Given the description of an element on the screen output the (x, y) to click on. 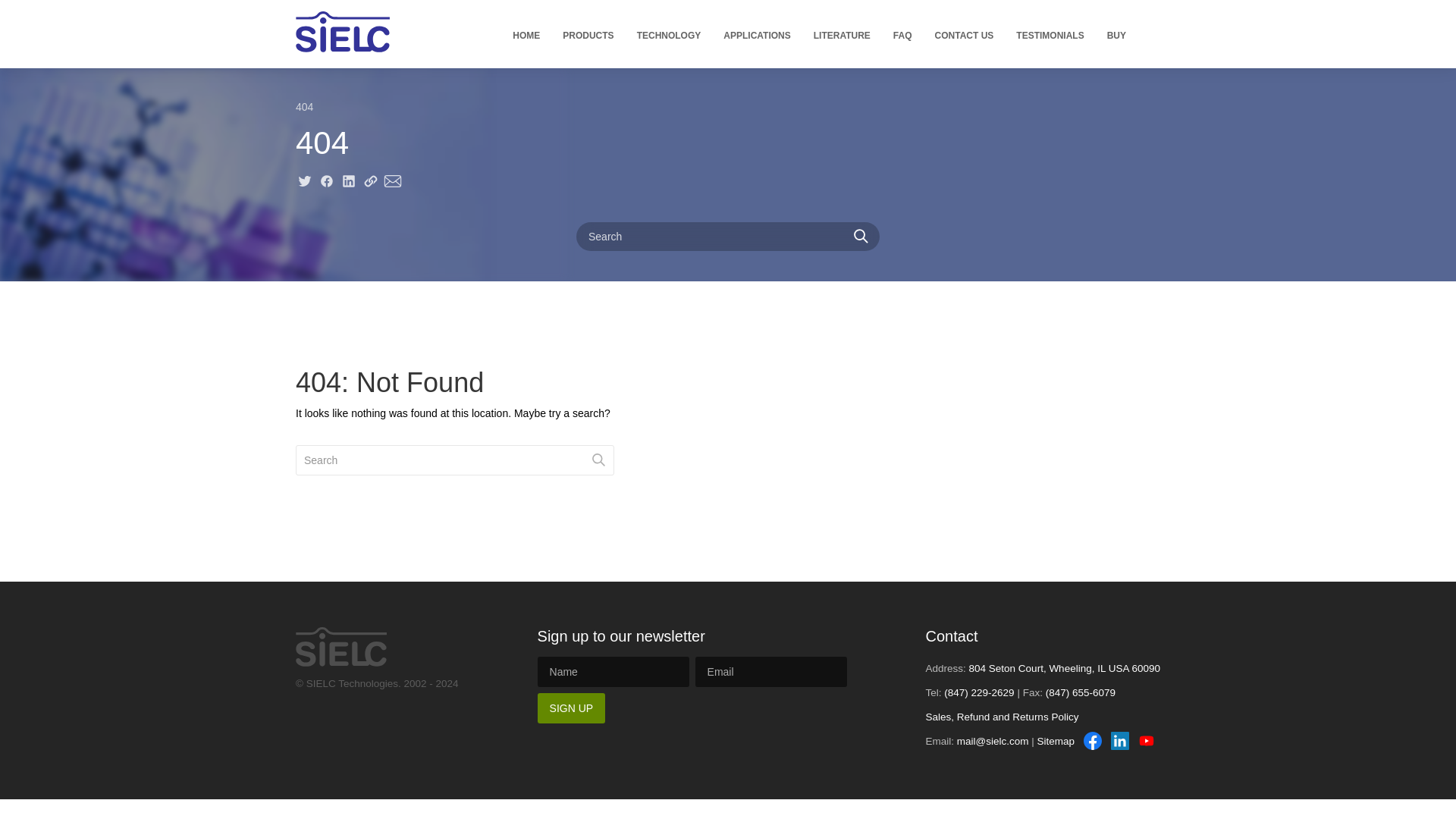
TESTIMONIALS (1049, 34)
BUY (1116, 34)
LITERATURE (842, 34)
Sign Up (571, 707)
PRODUCTS (587, 34)
FAQ (902, 34)
HOME (525, 34)
APPLICATIONS (756, 34)
CONTACT US (964, 34)
TECHNOLOGY (669, 34)
SIELC Technologies (342, 31)
